Given the description of an element on the screen output the (x, y) to click on. 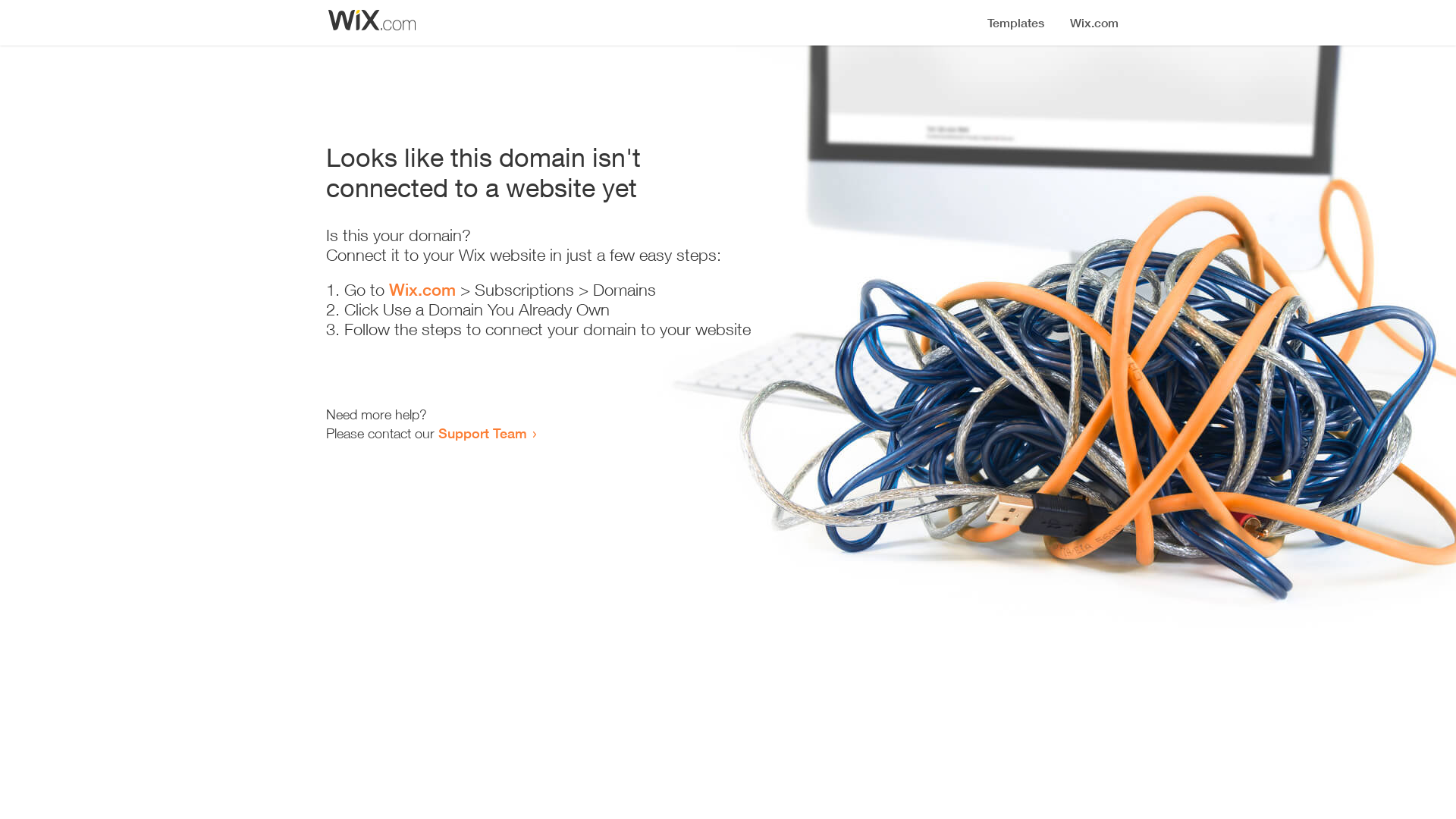
Support Team Element type: text (482, 432)
Wix.com Element type: text (422, 289)
